Given the description of an element on the screen output the (x, y) to click on. 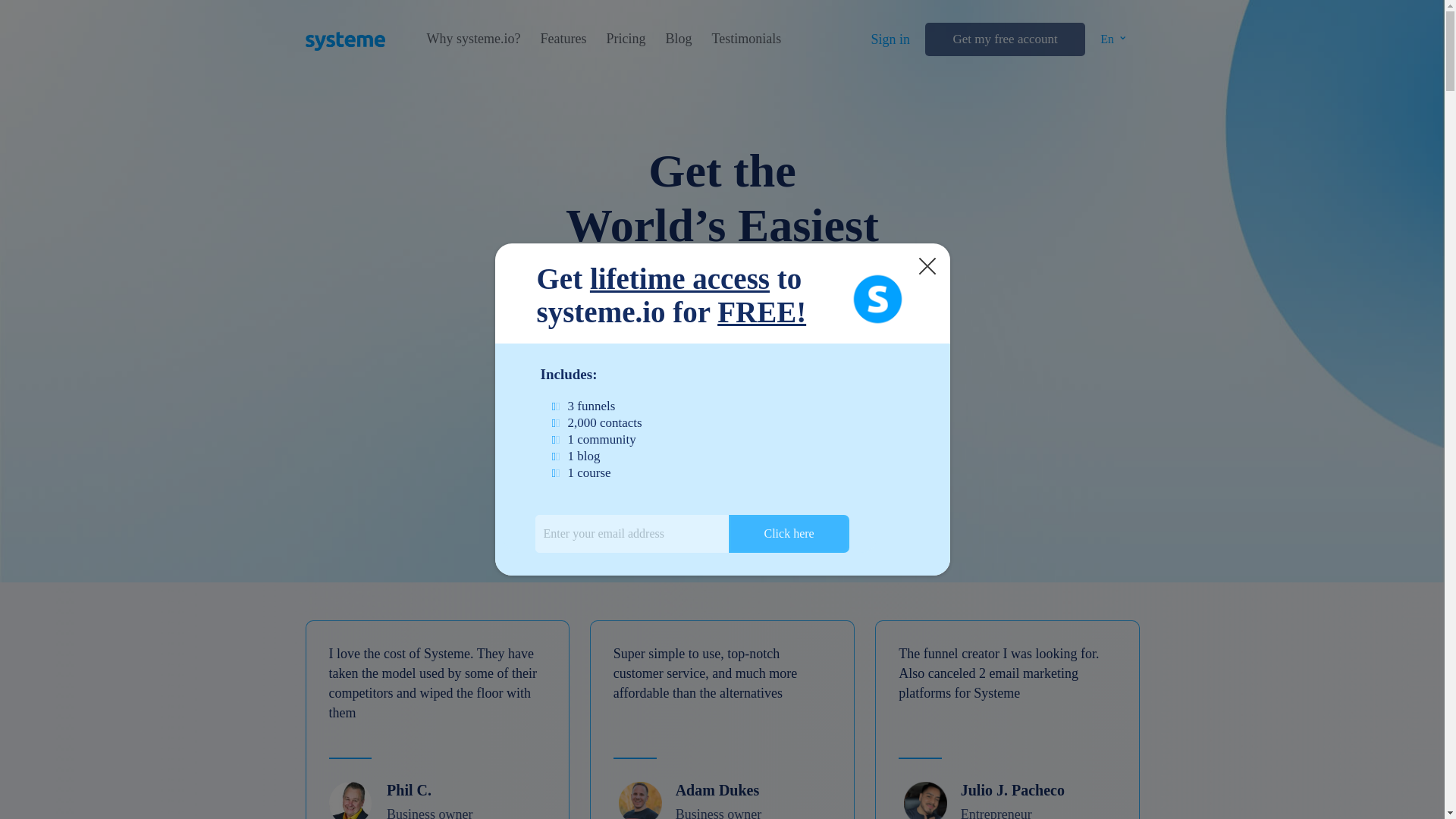
Testimonials (745, 38)
Pricing (625, 38)
Why systeme.io? (472, 38)
Get my free account (1004, 39)
Sign in (890, 39)
Features (563, 38)
Blog (678, 38)
